Given the description of an element on the screen output the (x, y) to click on. 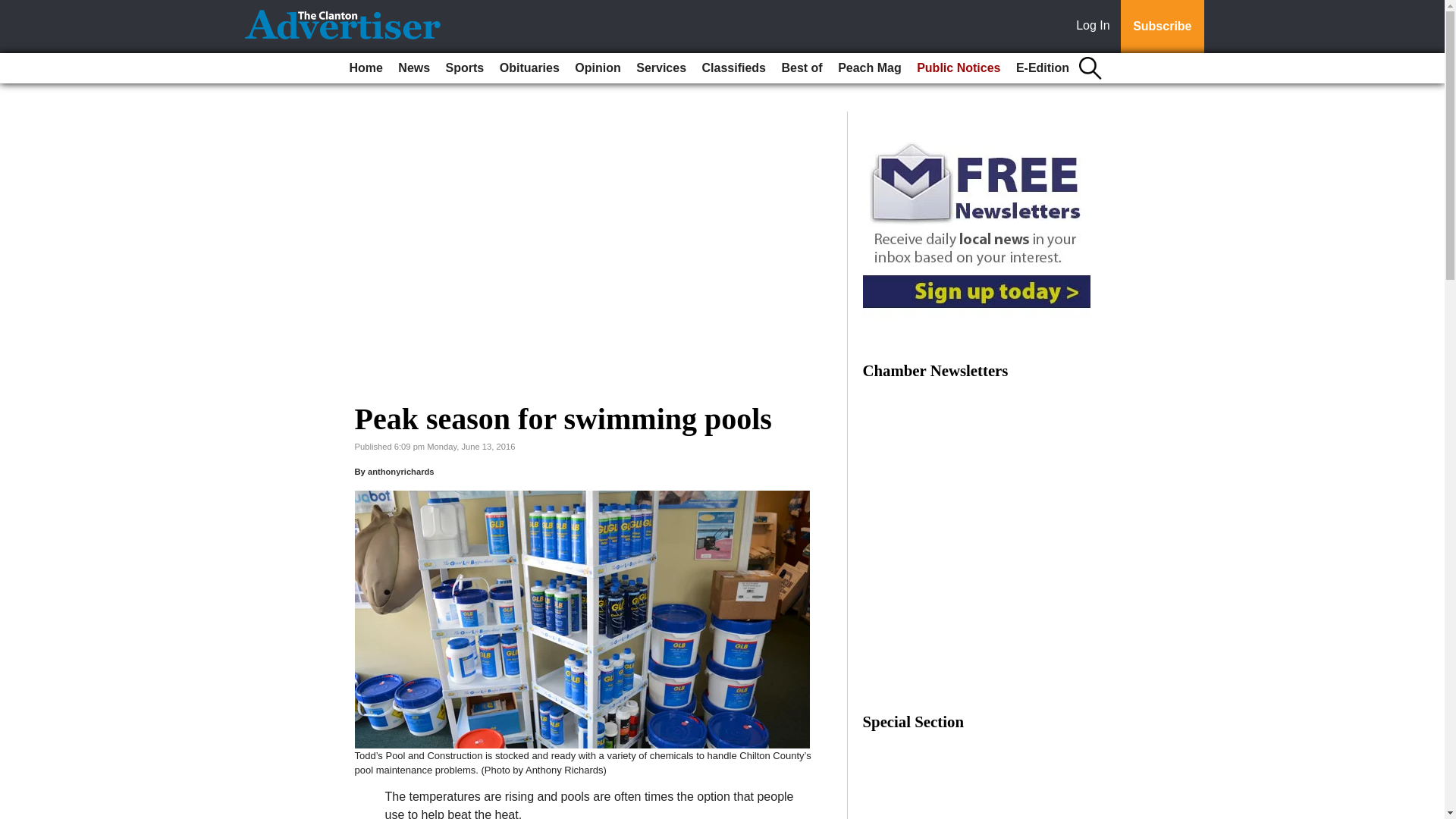
Opinion (597, 68)
Sports (464, 68)
News (413, 68)
Public Notices (958, 68)
Classifieds (733, 68)
Subscribe (1162, 26)
Go (13, 9)
Services (661, 68)
Obituaries (529, 68)
Best of (801, 68)
E-Edition (1042, 68)
anthonyrichards (400, 470)
Log In (1095, 26)
Home (365, 68)
Peach Mag (869, 68)
